Given the description of an element on the screen output the (x, y) to click on. 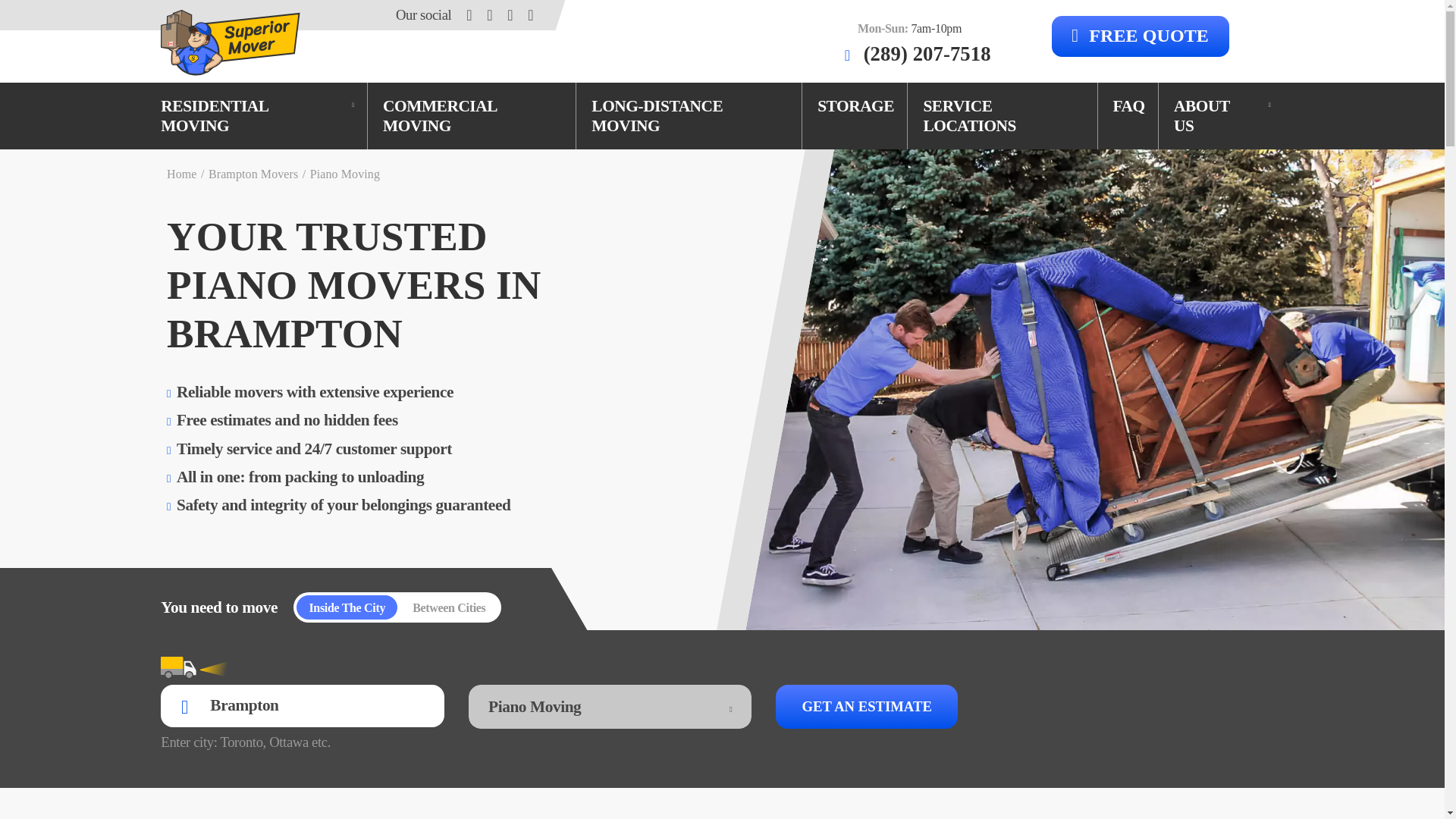
COMMERCIAL MOVING (472, 116)
FREE QUOTE (1139, 35)
Brampton Movers (253, 173)
STORAGE (854, 106)
Brampton (302, 705)
Brampton (302, 705)
SERVICE LOCATIONS (1003, 116)
Home (181, 173)
RESIDENTIAL MOVING (256, 116)
LONG-DISTANCE MOVING (689, 116)
